Given the description of an element on the screen output the (x, y) to click on. 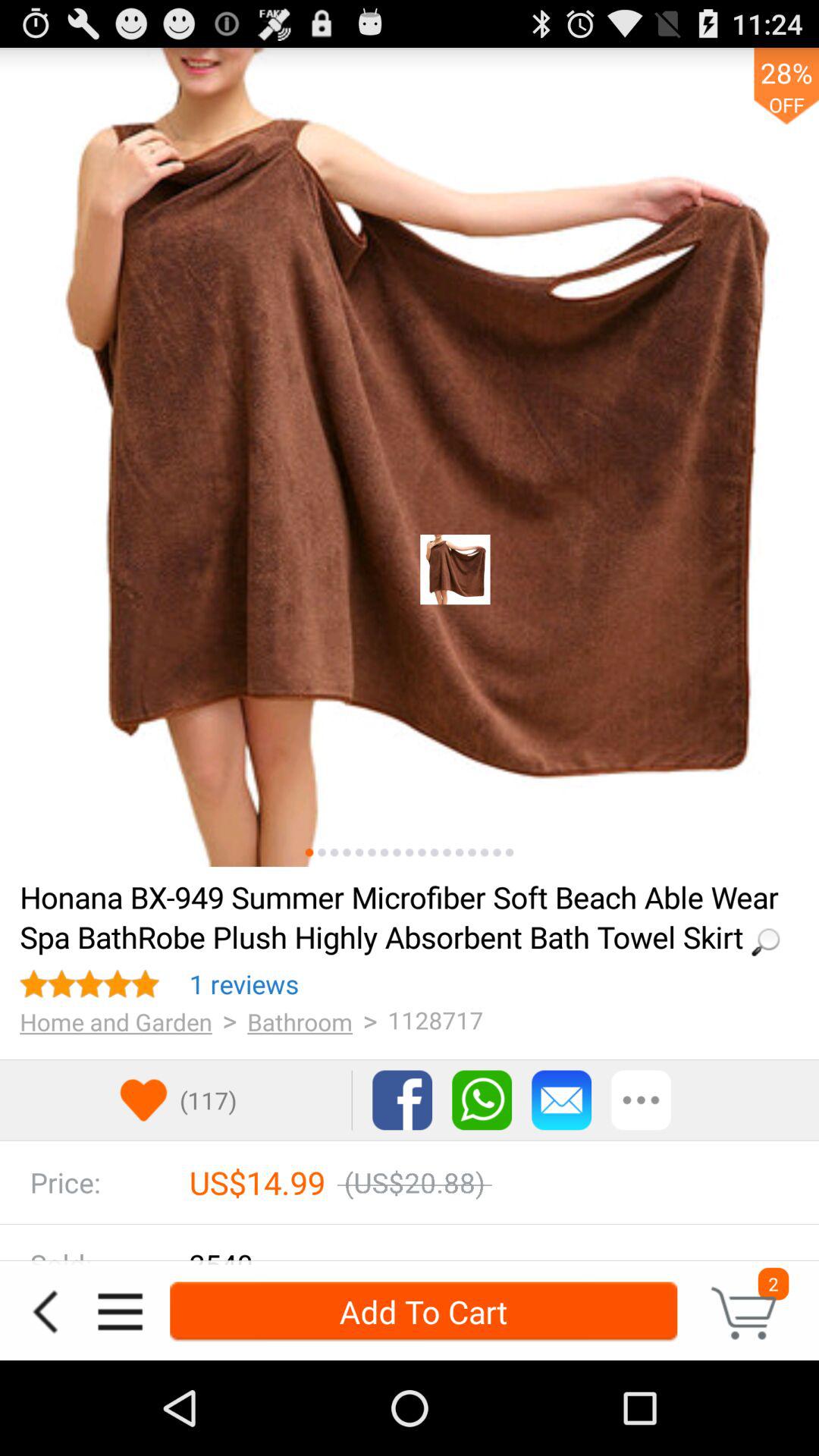
share on facebook (402, 1100)
